Given the description of an element on the screen output the (x, y) to click on. 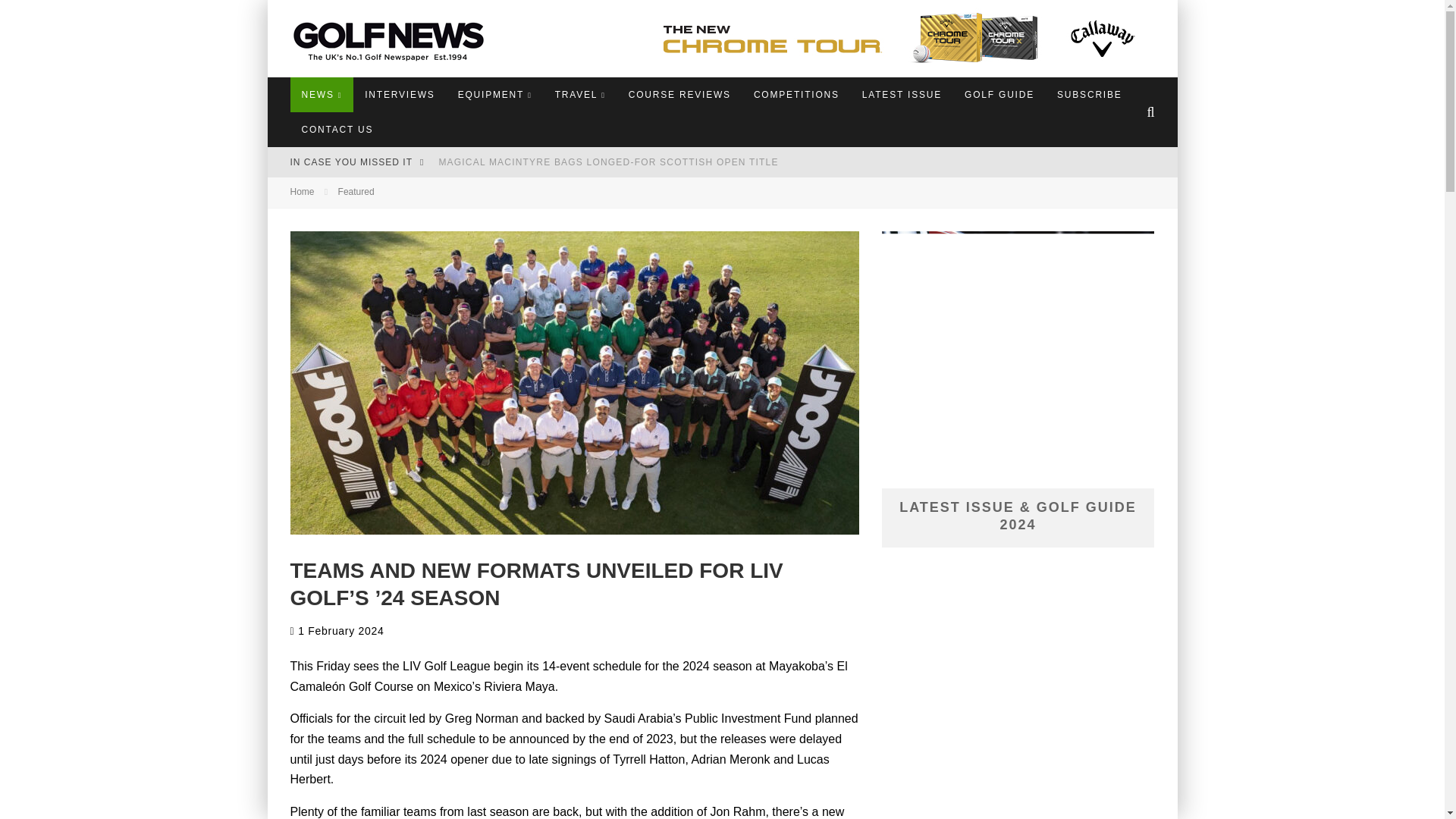
COURSE REVIEWS (679, 94)
NEWS (321, 94)
Magical MacIntyre bags longed-for Scottish Open title (607, 162)
EQUIPMENT (494, 94)
TRAVEL (580, 94)
INTERVIEWS (399, 94)
